Given the description of an element on the screen output the (x, y) to click on. 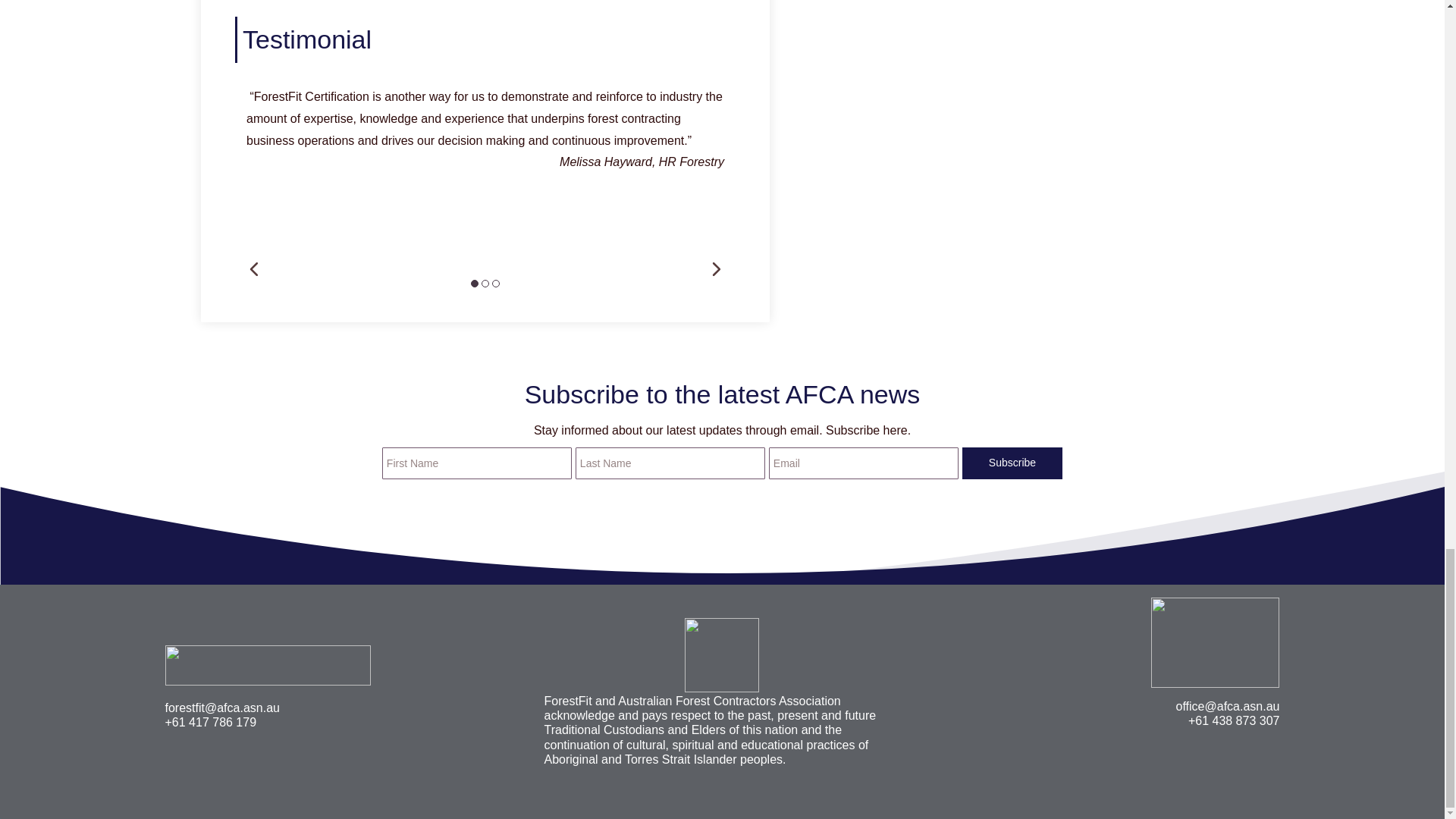
Call ForestFit (211, 721)
Email AFCA (1227, 706)
Call AFCA (1233, 720)
Subscribe (1012, 463)
